Given the description of an element on the screen output the (x, y) to click on. 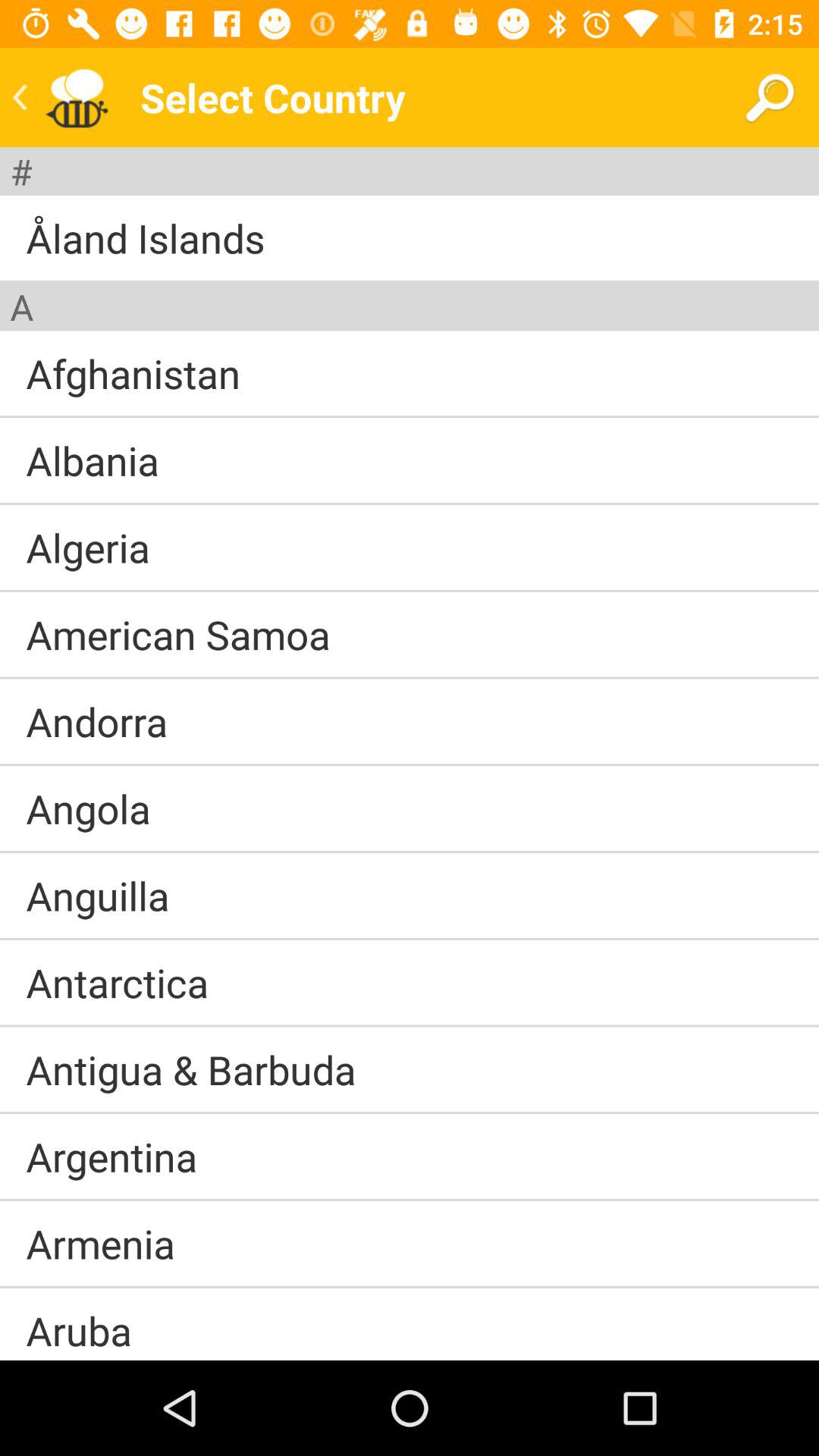
launch armenia icon (100, 1243)
